Given the description of an element on the screen output the (x, y) to click on. 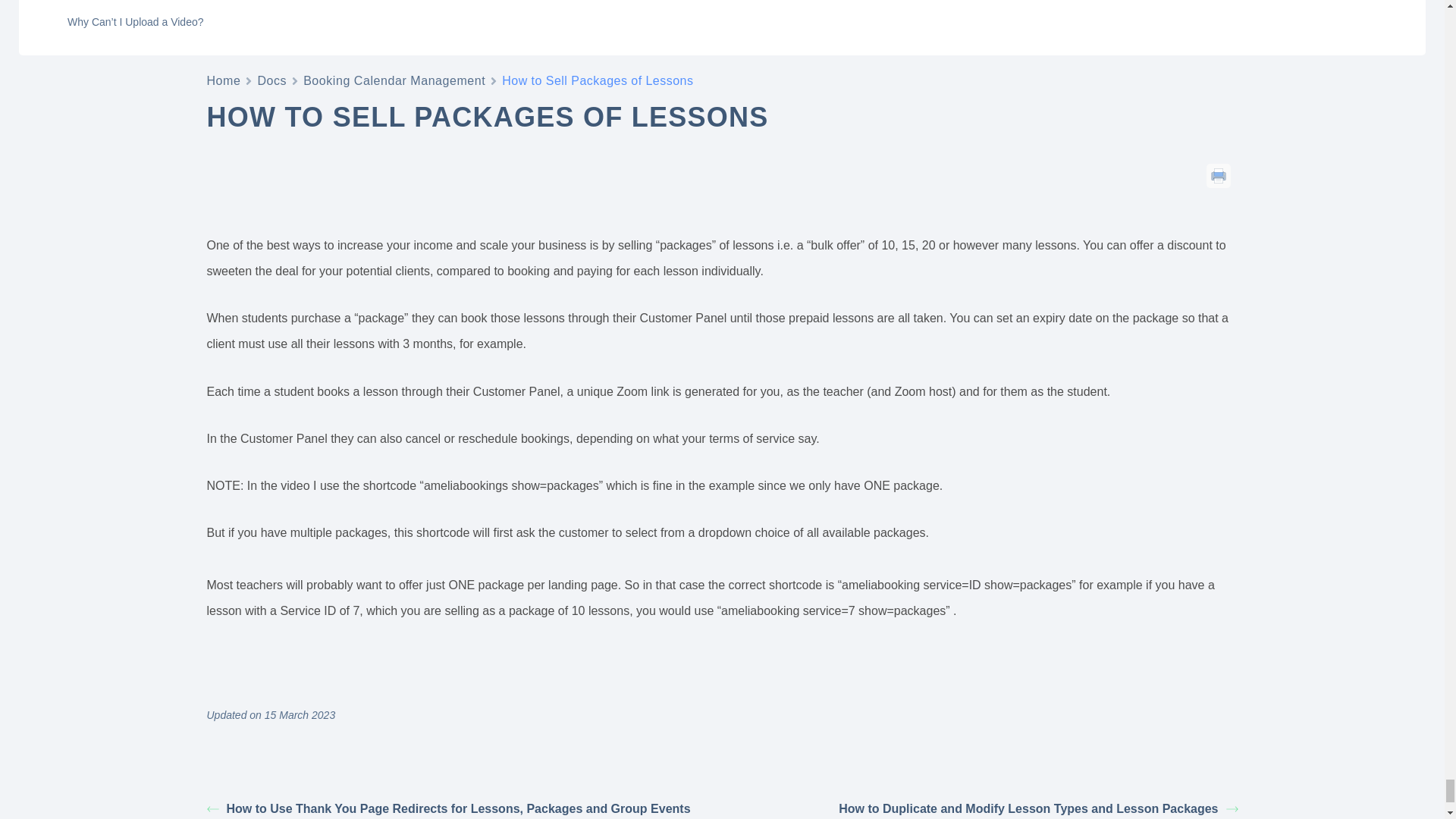
Docs (271, 80)
Home (223, 80)
Booking Calendar Management (393, 80)
